Given the description of an element on the screen output the (x, y) to click on. 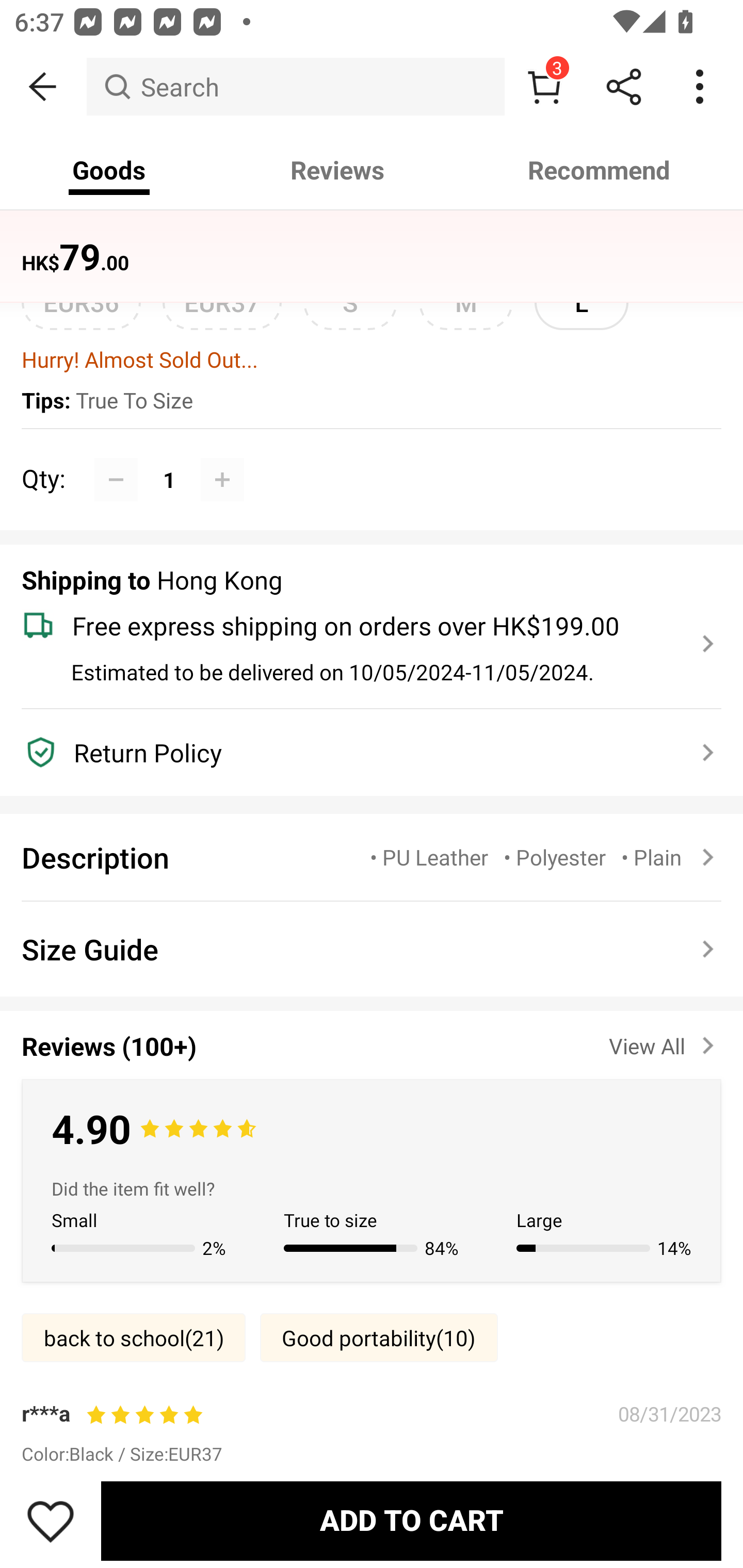
BACK (43, 86)
3 (543, 87)
Search (295, 87)
Goods (109, 170)
Reviews (337, 170)
Recommend (599, 170)
Hurry! Almost Sold Out... (371, 358)
Tips: True To Size (371, 400)
Qty: 1 (371, 457)
Return Policy (359, 752)
Size Guide (371, 949)
View All (664, 1041)
back to school(21) (133, 1337)
Good portability(10) (378, 1337)
ADD TO CART (411, 1520)
Save (50, 1520)
